Given the description of an element on the screen output the (x, y) to click on. 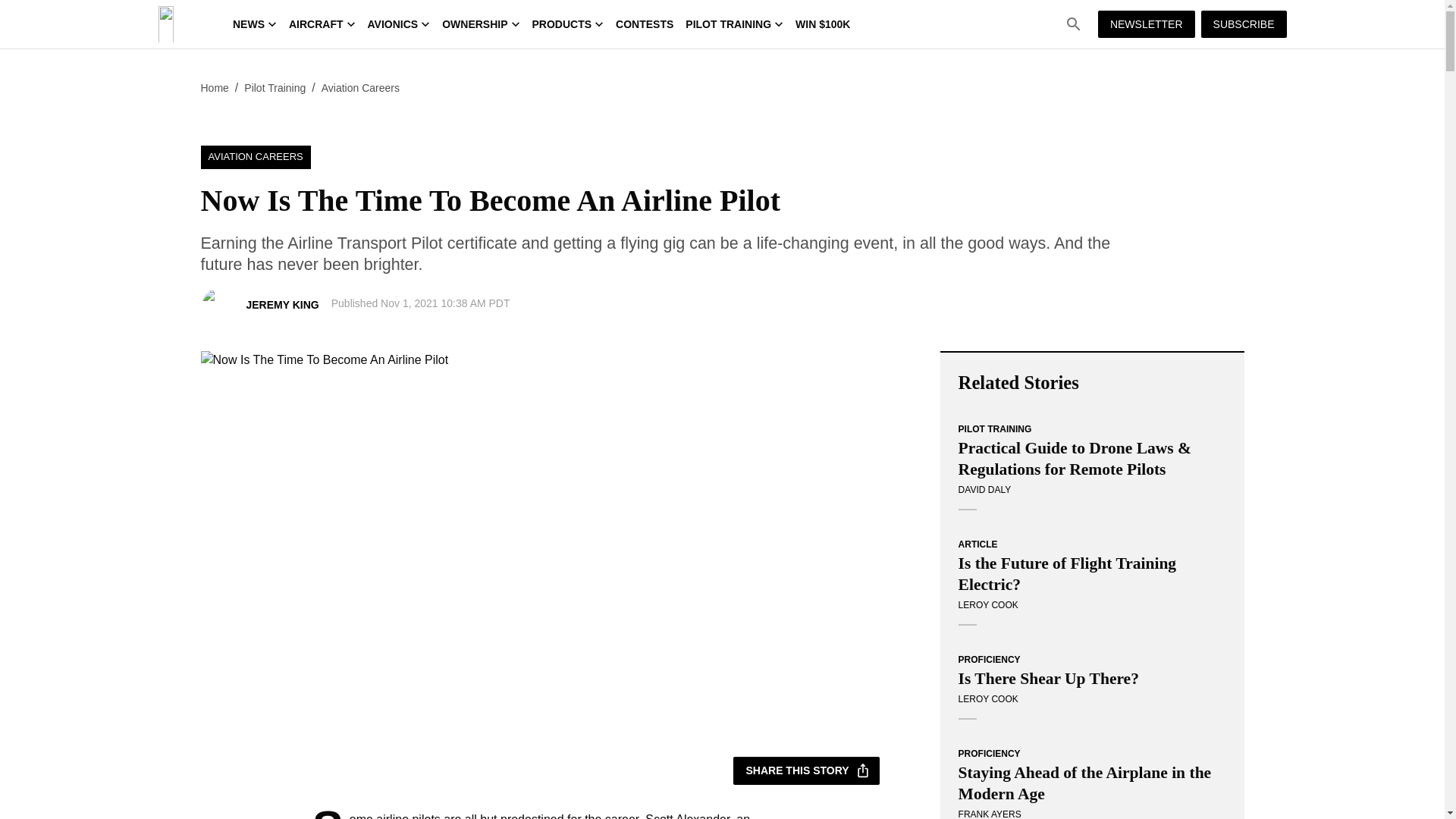
NEWSLETTER (1146, 24)
LEROY COOK (987, 698)
PROFICIENCY (989, 659)
FRANK AYERS (990, 814)
Staying Ahead of the Airplane in the Modern Age (1091, 783)
DAVID DALY (984, 489)
JEREMY KING (282, 304)
CONTESTS (644, 24)
PRODUCTS (567, 24)
ARTICLE (977, 543)
